Given the description of an element on the screen output the (x, y) to click on. 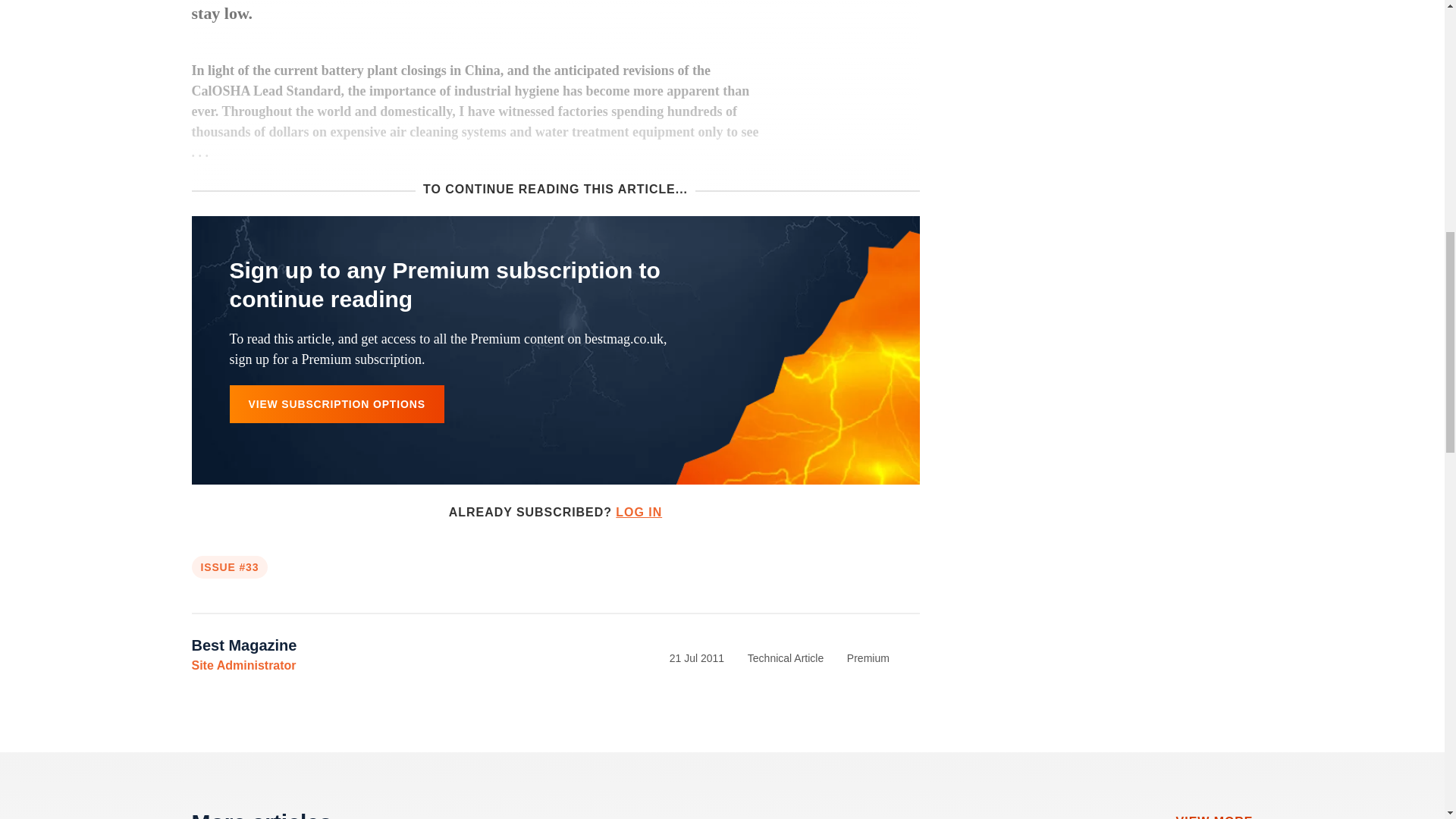
LOG IN (638, 512)
VIEW SUBSCRIPTION OPTIONS (336, 403)
